Given the description of an element on the screen output the (x, y) to click on. 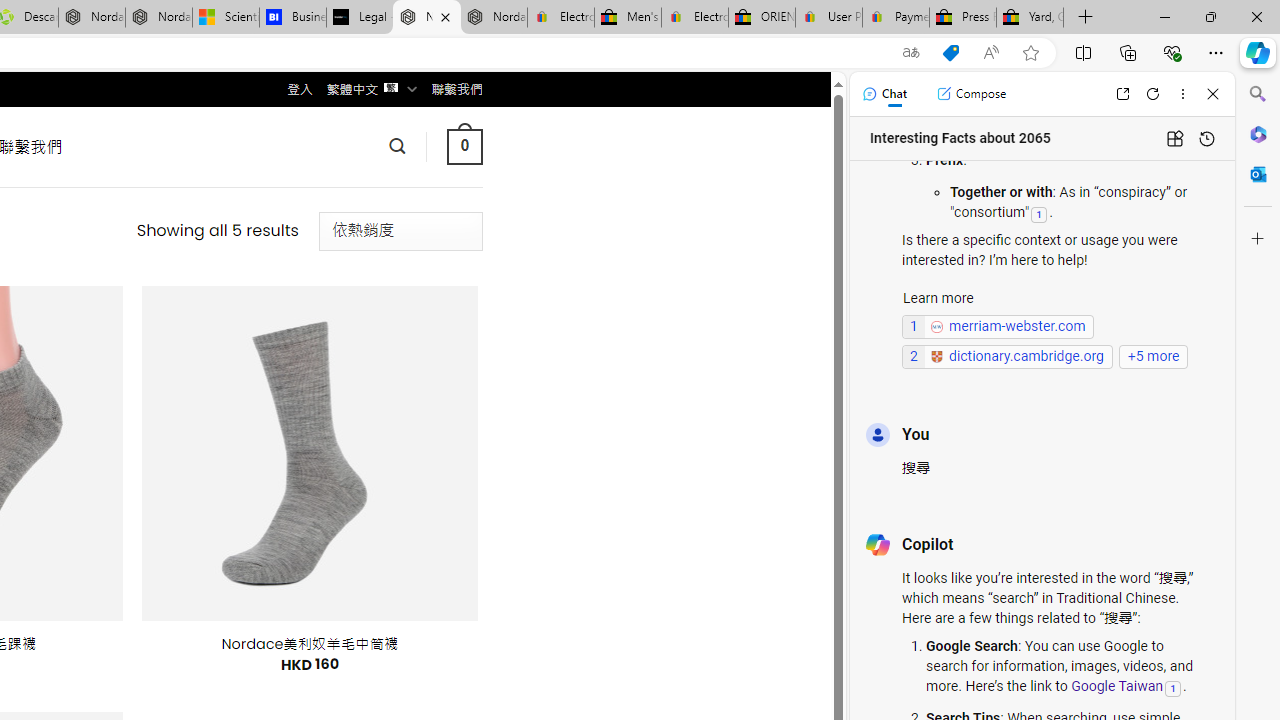
Chat (884, 93)
Show translate options (910, 53)
Compose (971, 93)
 0  (464, 146)
